Given the description of an element on the screen output the (x, y) to click on. 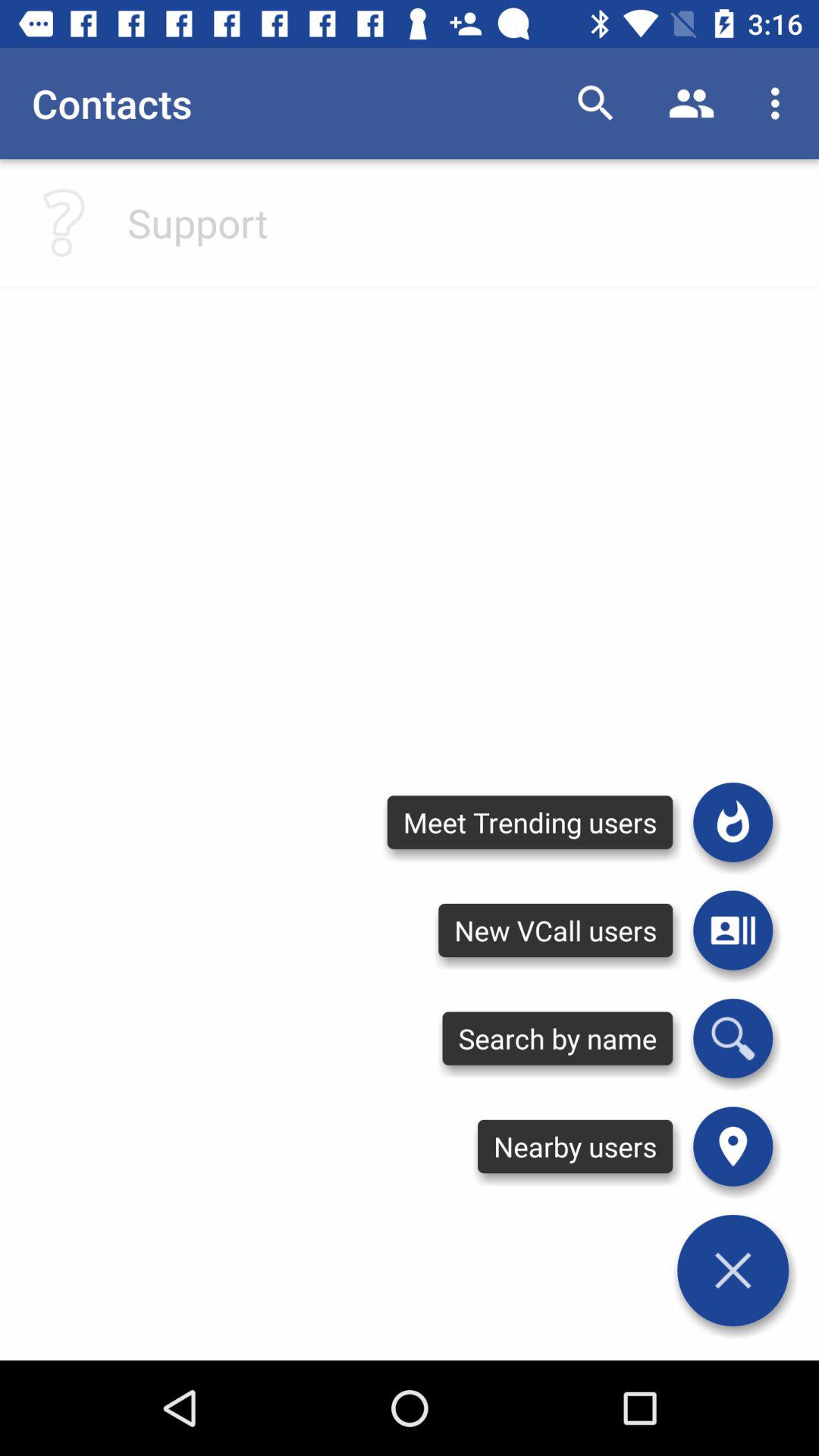
click the meet trending users item (530, 822)
